Given the description of an element on the screen output the (x, y) to click on. 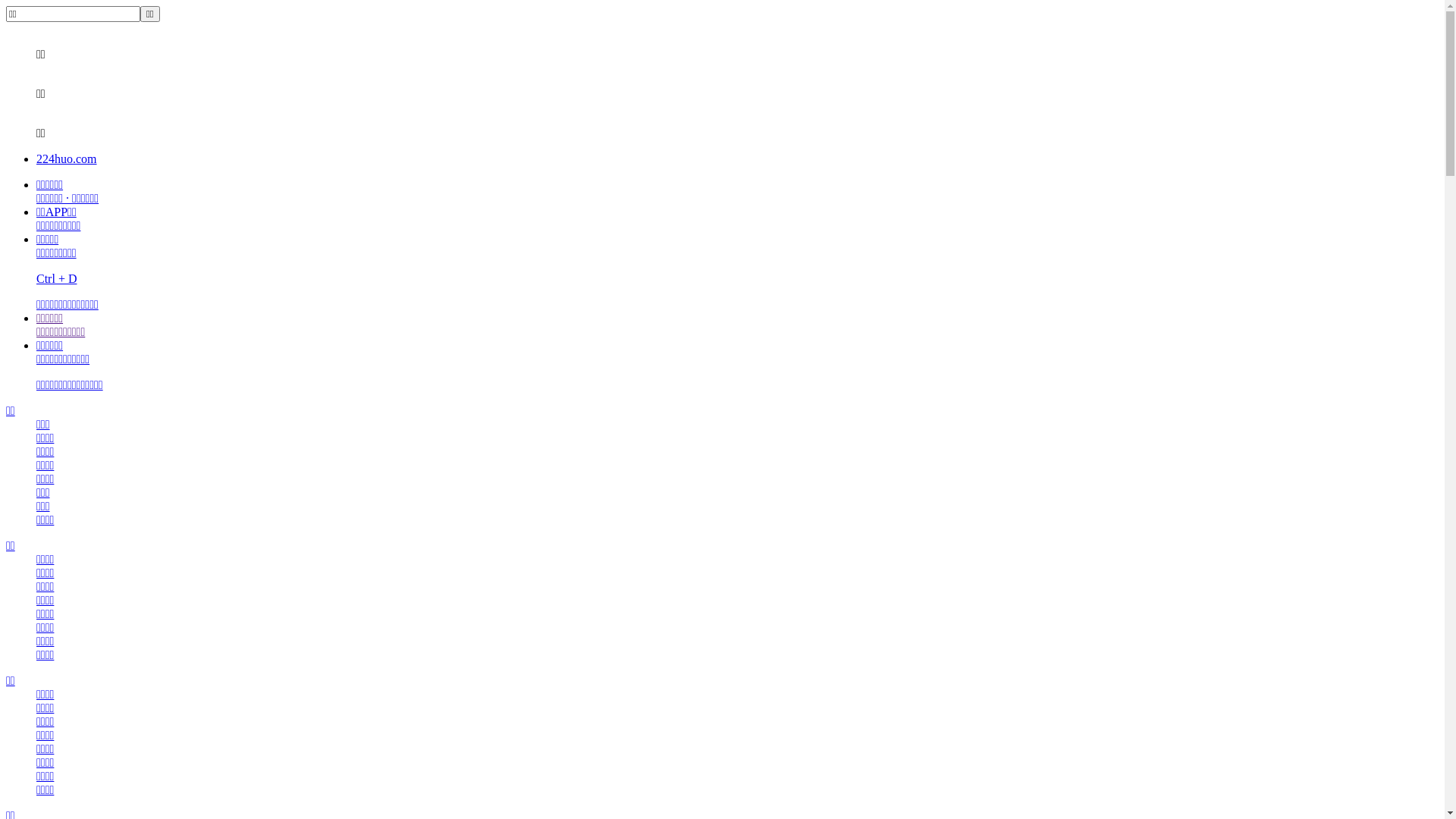
224huo.com Element type: text (66, 158)
